Given the description of an element on the screen output the (x, y) to click on. 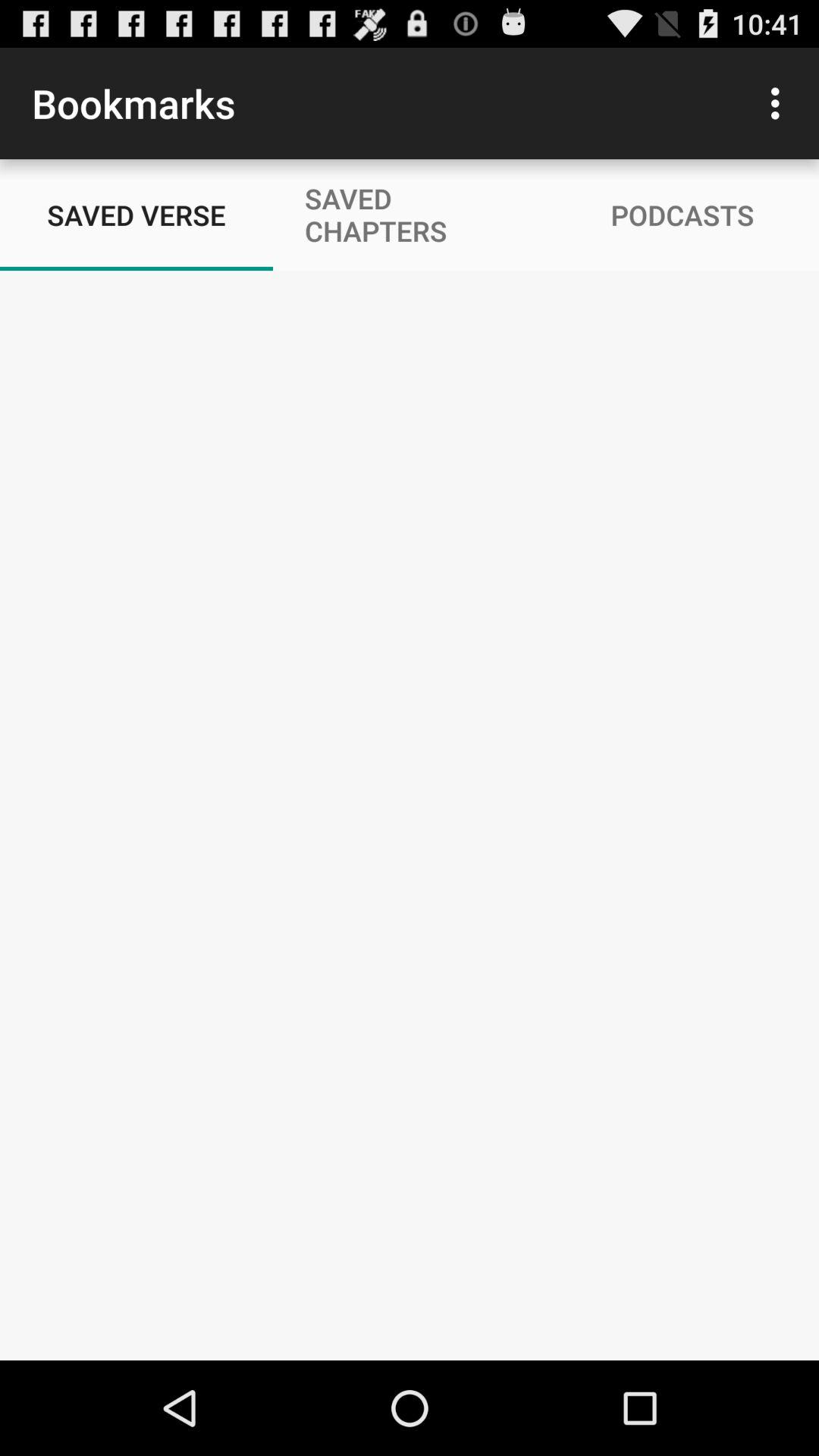
select icon at the bottom (409, 1310)
